Given the description of an element on the screen output the (x, y) to click on. 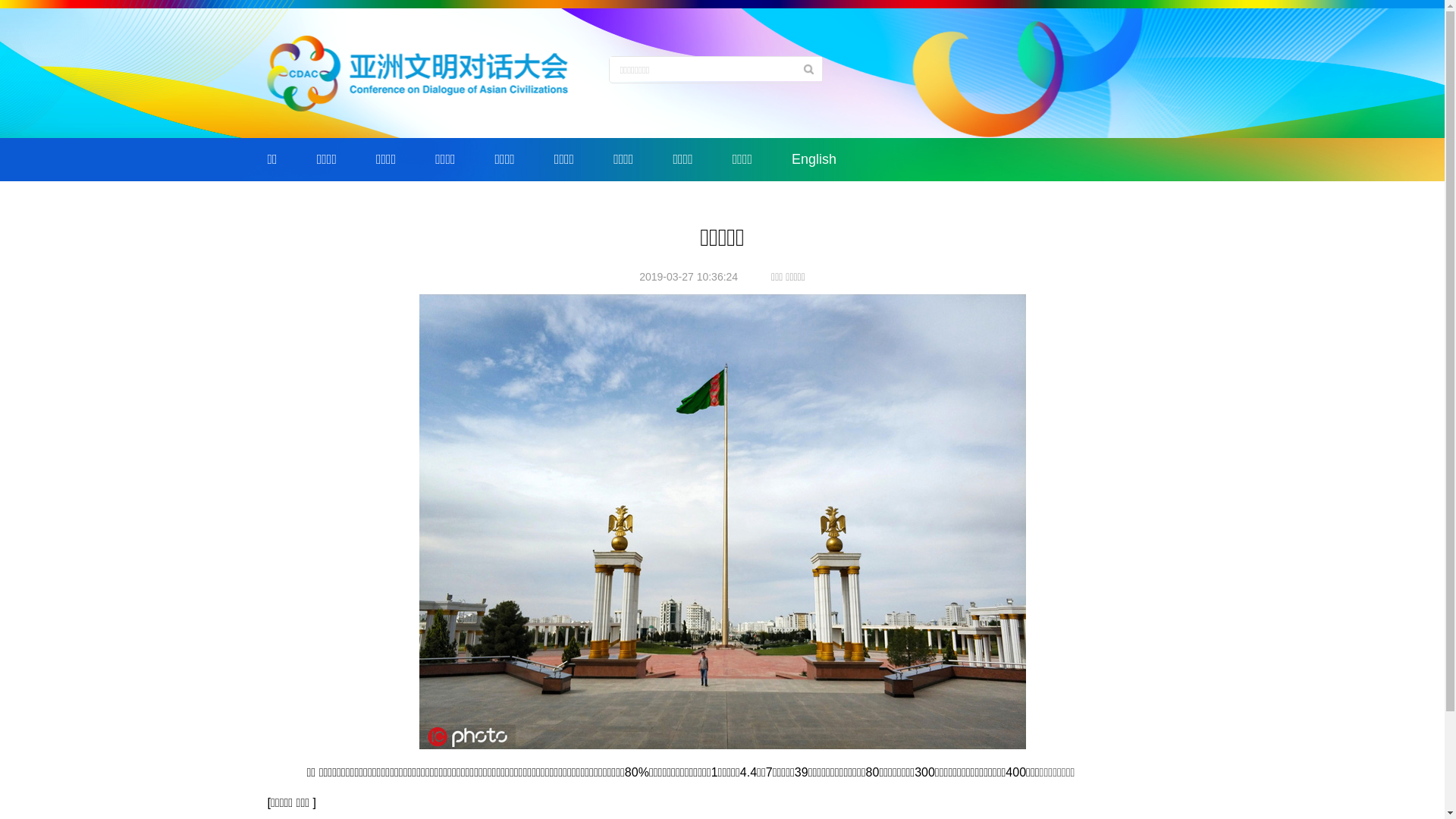
English Element type: text (813, 158)
